Given the description of an element on the screen output the (x, y) to click on. 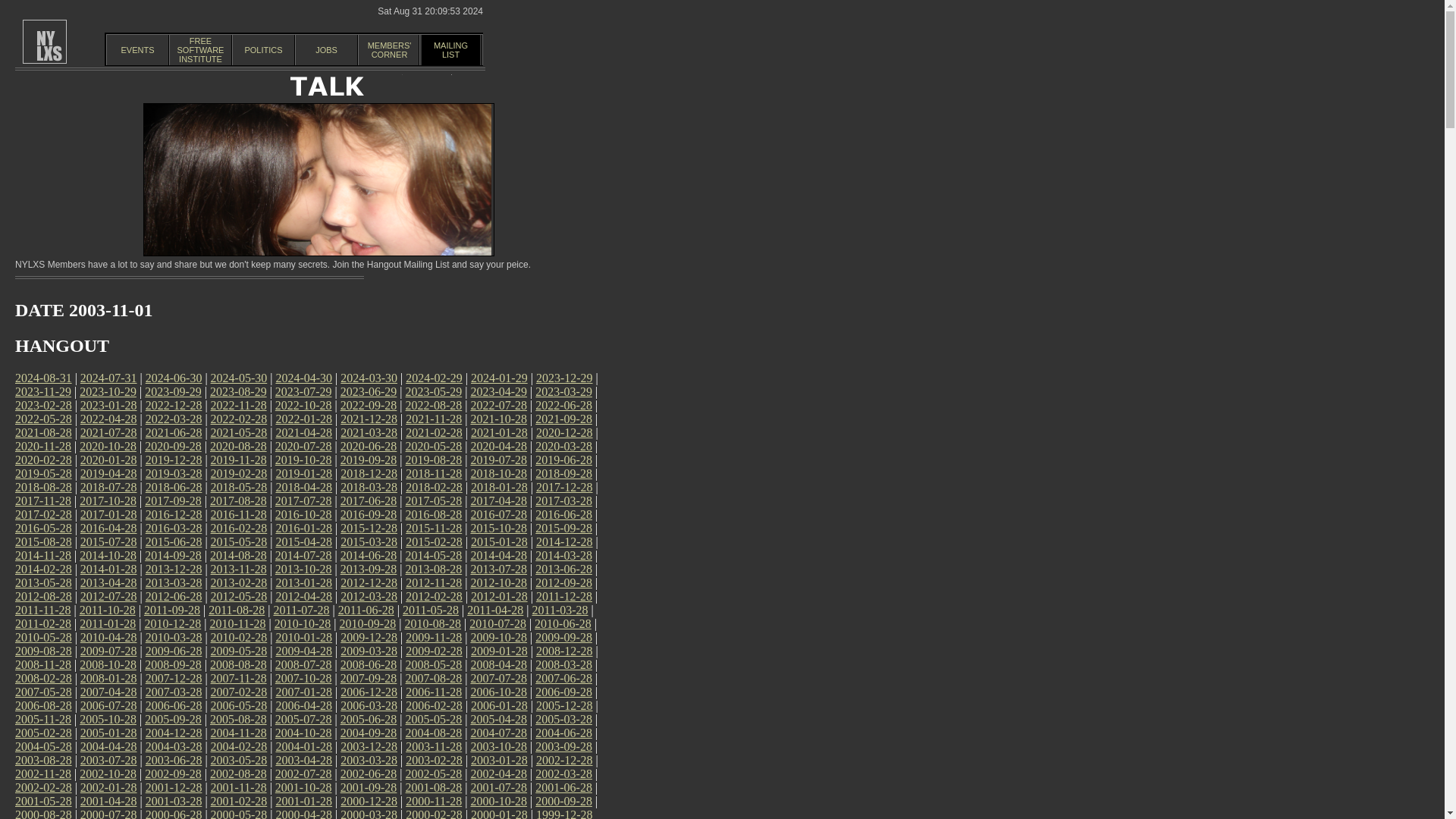
2022-06-28 (563, 404)
2023-01-28 (108, 404)
2022-01-28 (200, 49)
2022-07-28 (303, 418)
2023-08-29 (498, 404)
EVENTS (237, 391)
2023-04-29 (137, 49)
2023-10-29 (498, 391)
JOBS (108, 391)
